Given the description of an element on the screen output the (x, y) to click on. 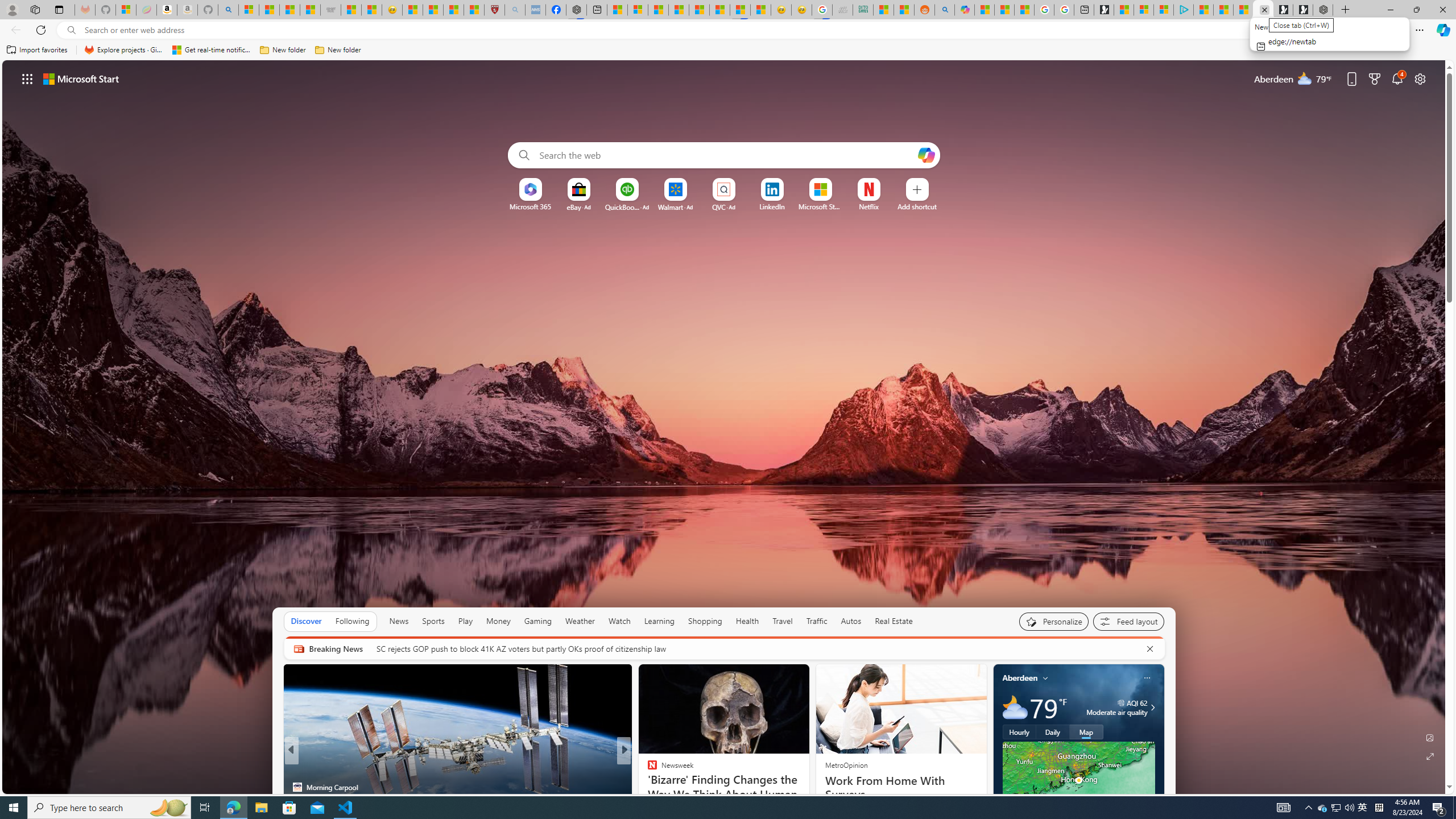
aqi-icon AQI 62 Moderate air quality (1116, 707)
Microsoft Copilot in Bing (964, 9)
Page settings (1420, 78)
